Given the description of an element on the screen output the (x, y) to click on. 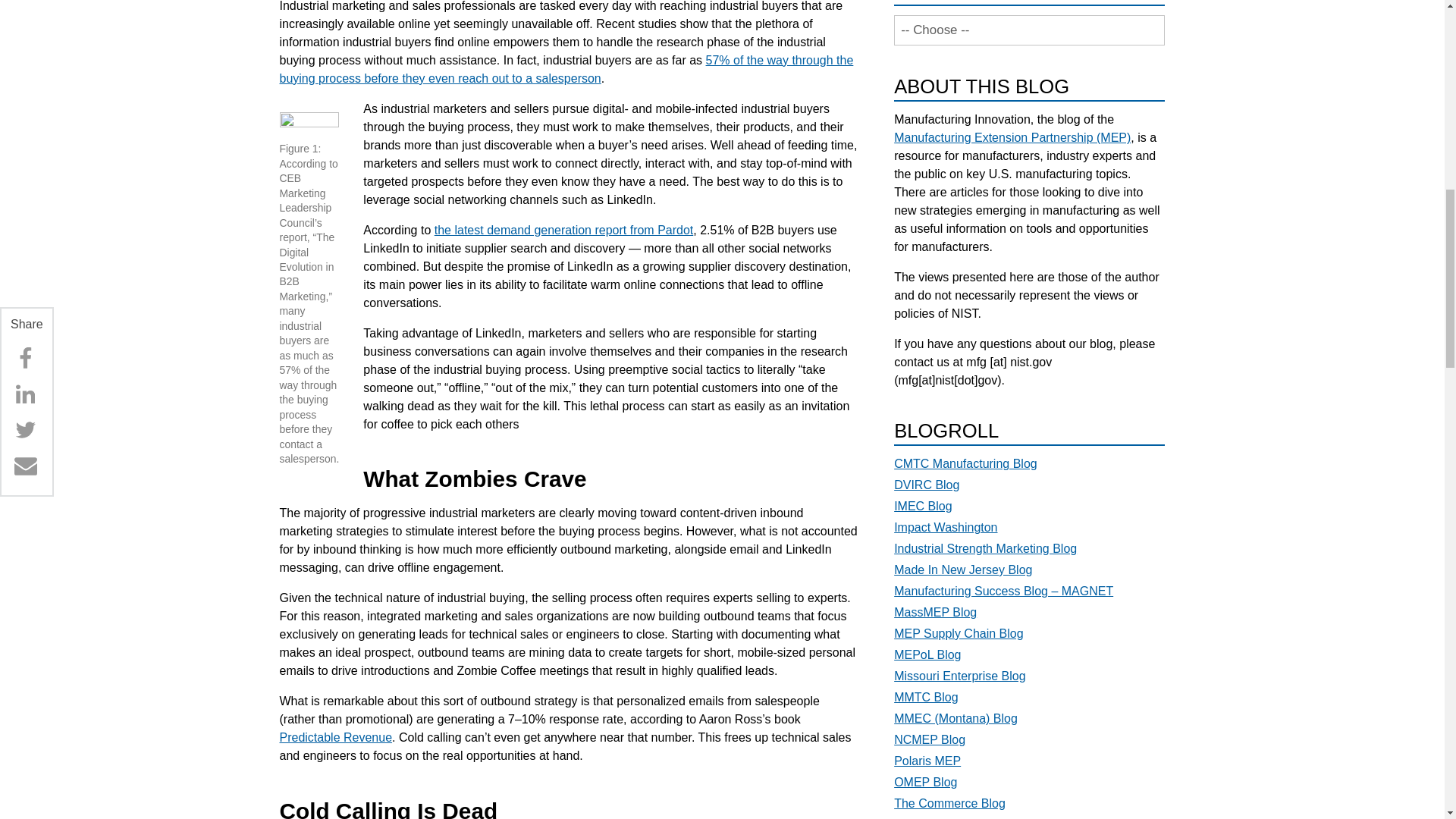
-- Choose -- (1028, 30)
